Given the description of an element on the screen output the (x, y) to click on. 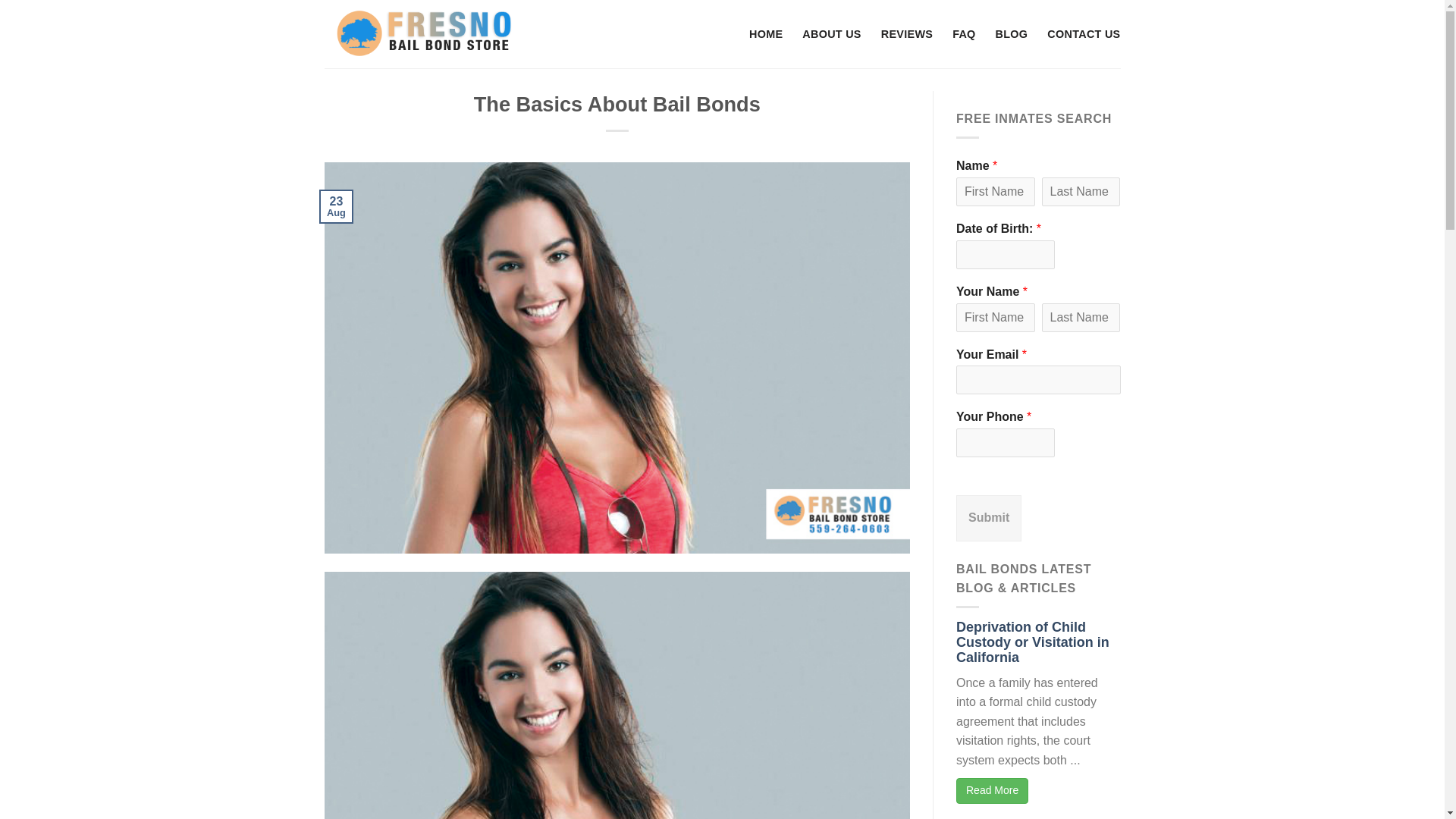
BLOG (1011, 33)
REVIEWS (906, 33)
ABOUT US (831, 33)
CONTACT US (1082, 33)
HOME (766, 33)
